Given the description of an element on the screen output the (x, y) to click on. 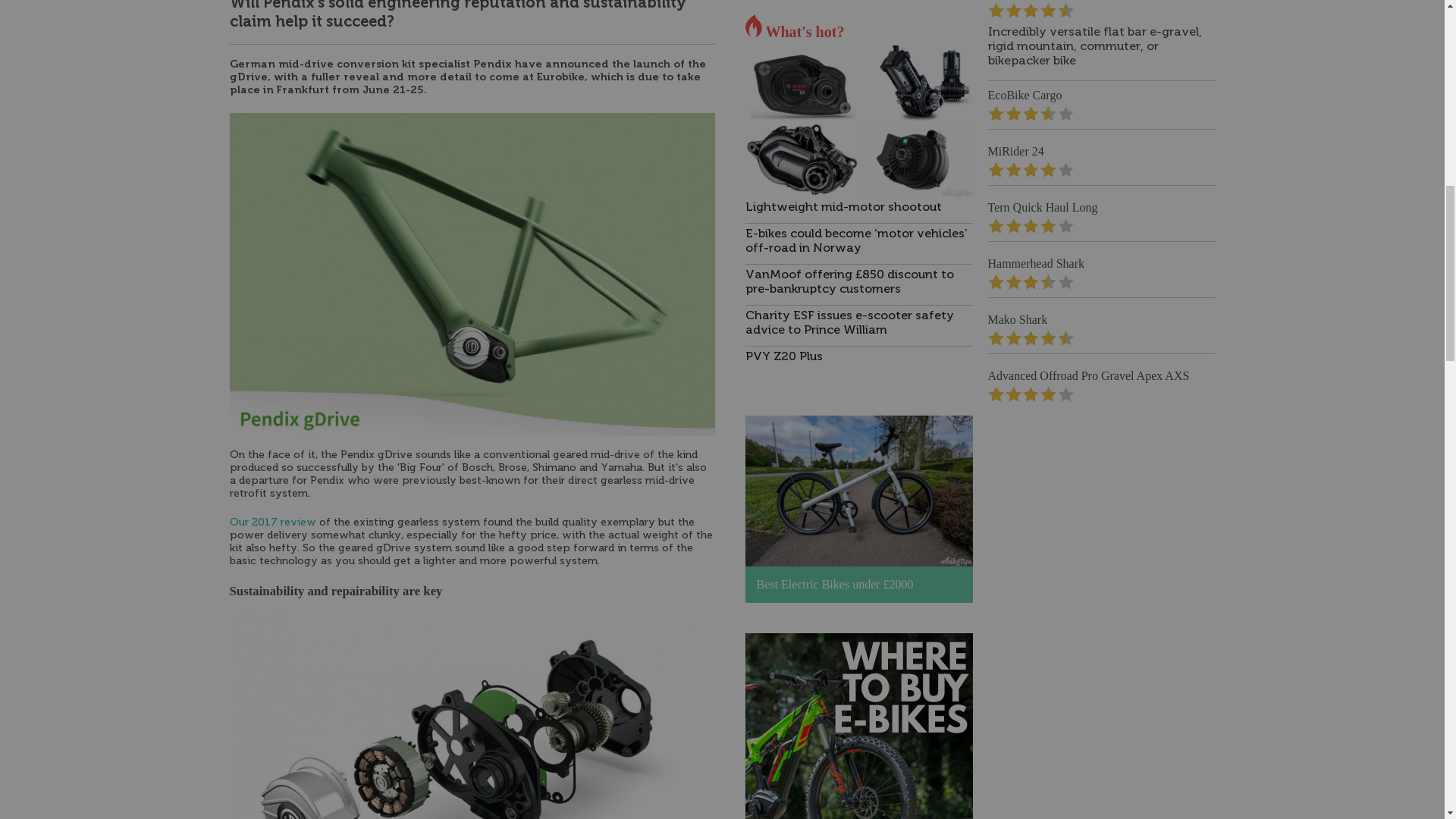
Honbike Uni4.jpg (858, 491)
Pendix gDrive Exploded.jpg (471, 715)
Our 2017 review (271, 521)
